Given the description of an element on the screen output the (x, y) to click on. 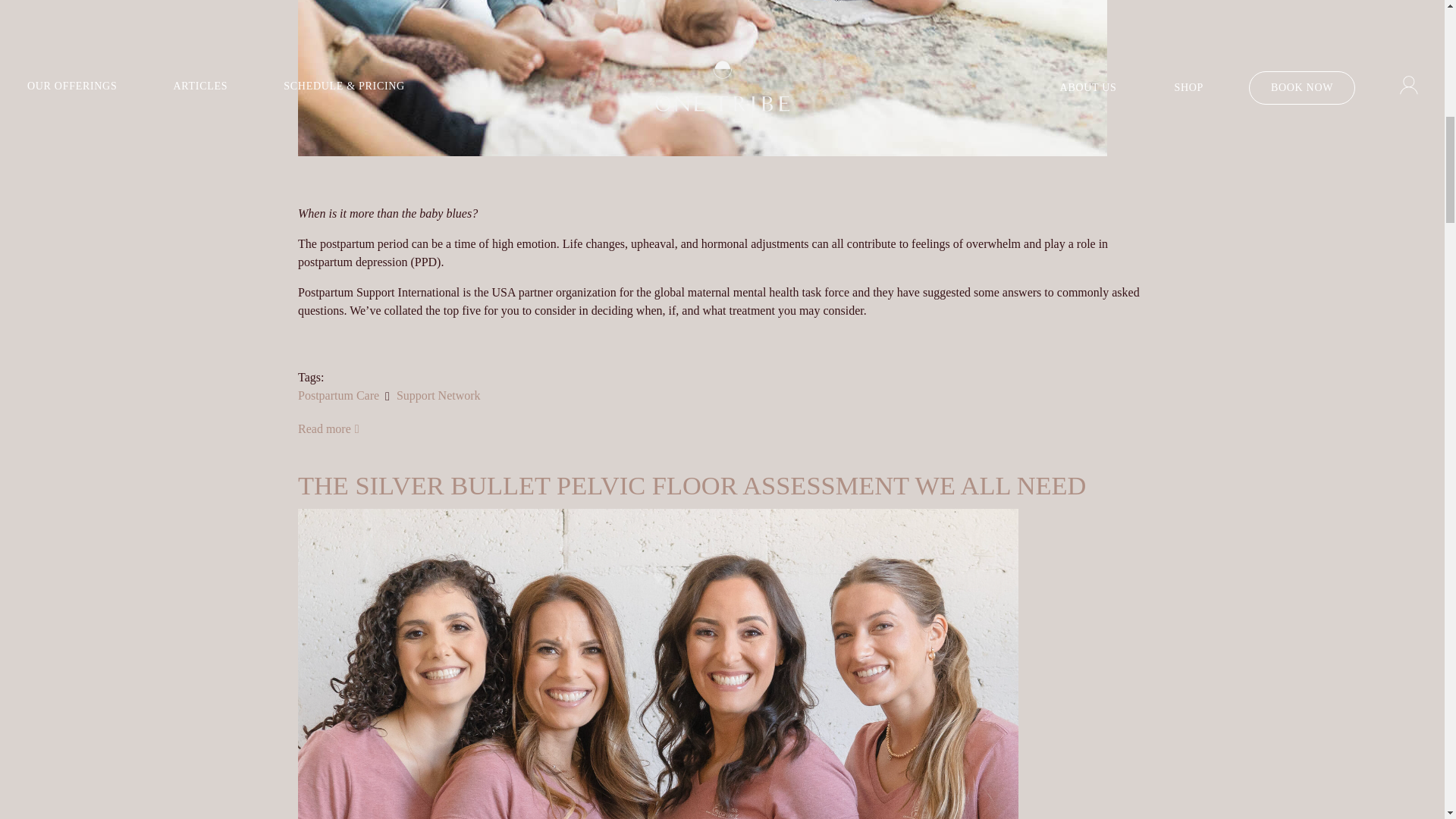
THE SILVER BULLET PELVIC FLOOR ASSESSMENT WE ALL NEED (692, 484)
Postpartum Care (338, 395)
Support Network (438, 395)
FAQS About Post-Partum Mental Health (329, 428)
